Given the description of an element on the screen output the (x, y) to click on. 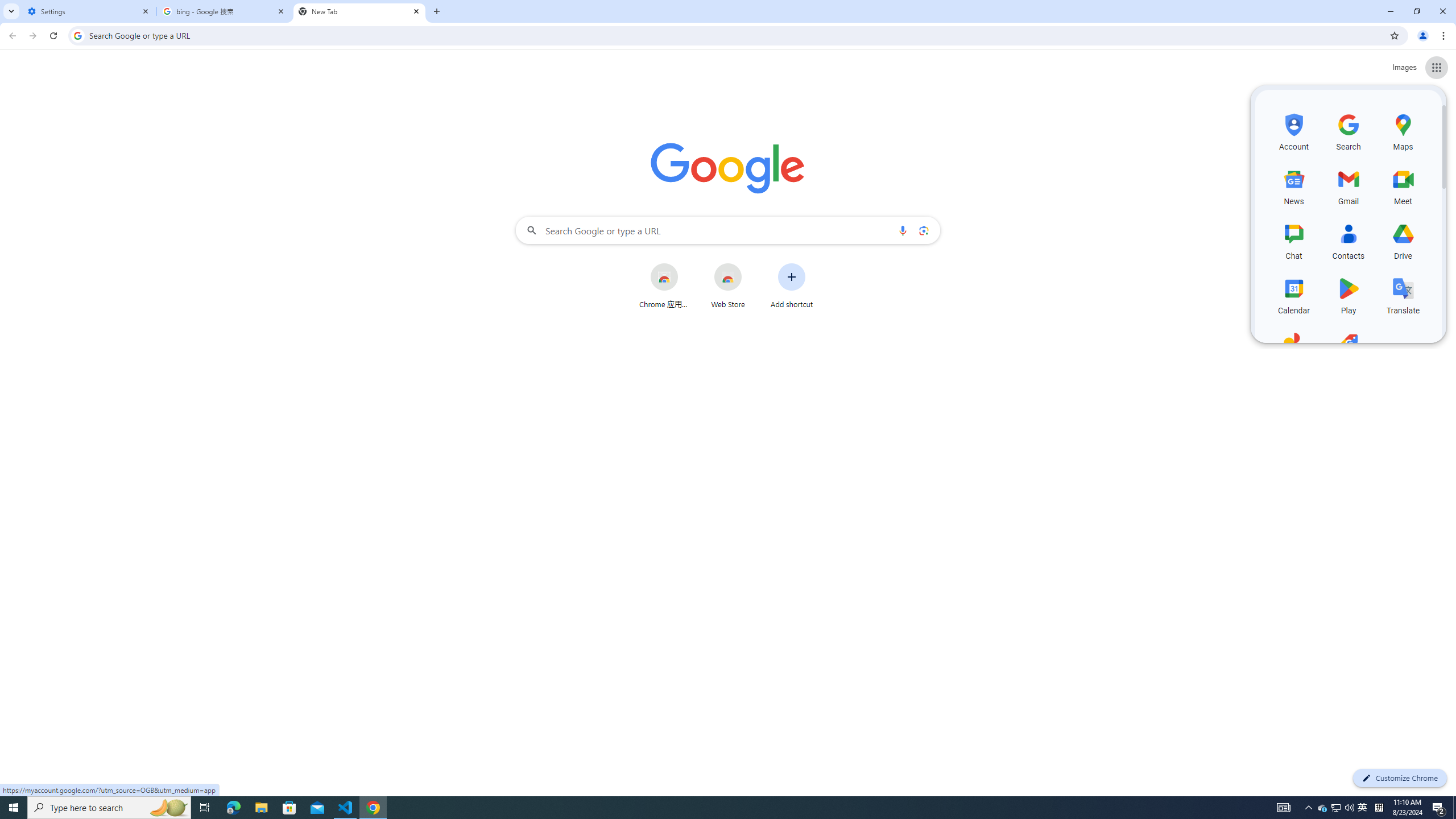
Settings (88, 11)
Customize Chrome (1399, 778)
Search by voice (902, 230)
Gmail, row 2 of 5 and column 2 of 3 in the first section (1348, 185)
Search Google or type a URL (727, 230)
New Tab (359, 11)
Maps, row 1 of 5 and column 3 of 3 in the first section (1402, 130)
